Given the description of an element on the screen output the (x, y) to click on. 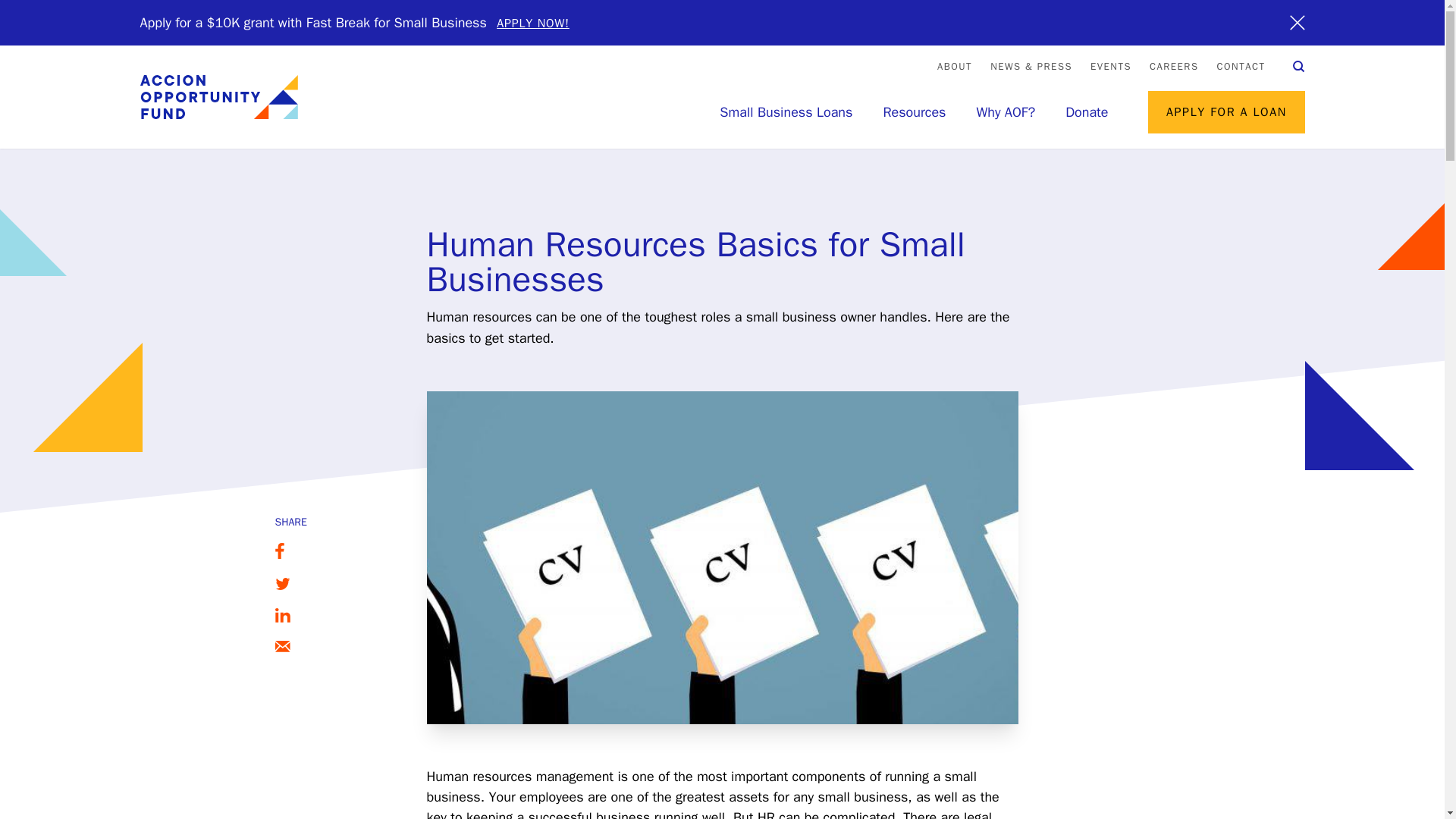
Small Business Loans (785, 112)
Accion Opportunity Fund (218, 96)
APPLY FOR A LOAN (1226, 111)
APPLY NOW! (532, 23)
CAREERS (1174, 65)
CONTACT (1240, 65)
Resources (913, 112)
ABOUT (954, 65)
EVENTS (1110, 65)
Donate (1086, 112)
Why AOF? (1005, 112)
